Given the description of an element on the screen output the (x, y) to click on. 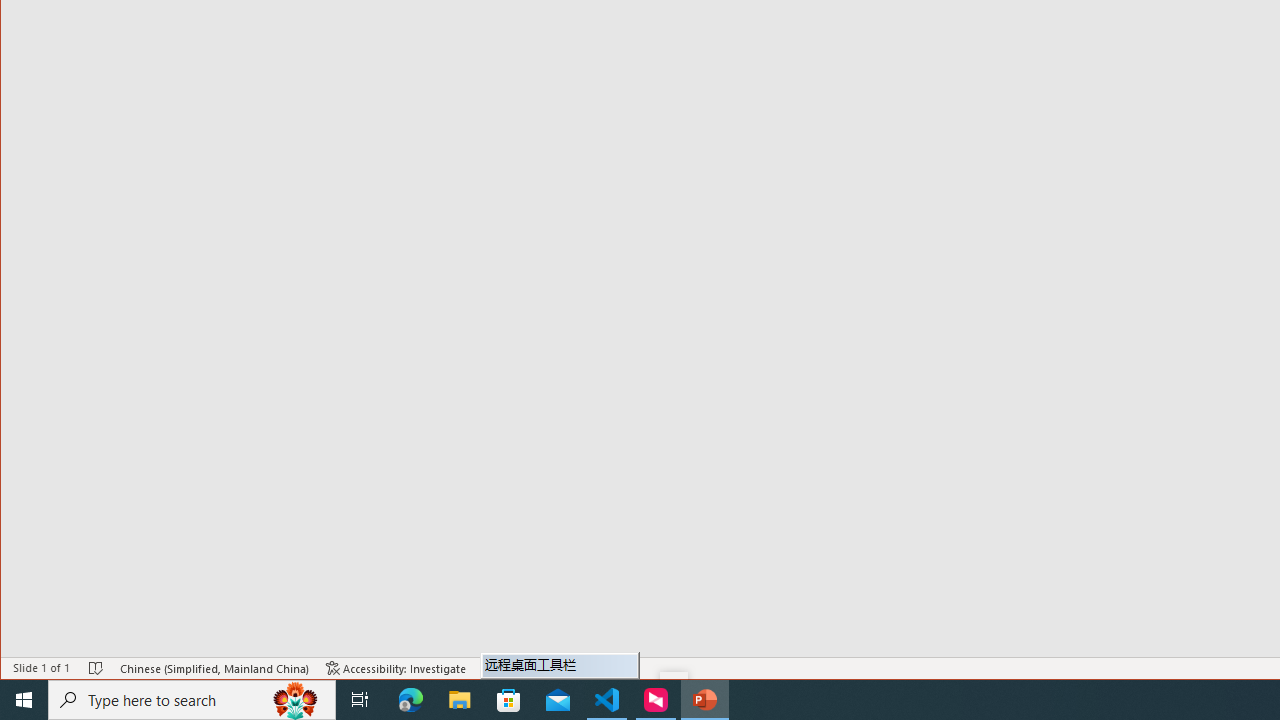
Microsoft Store (509, 699)
File Explorer (460, 699)
Microsoft Edge (411, 699)
PowerPoint - 1 running window (704, 699)
Task View (359, 699)
Accessibility Checker Accessibility: Investigate (395, 668)
Type here to search (191, 699)
Spell Check No Errors (96, 668)
Search highlights icon opens search home window (295, 699)
Start (24, 699)
Visual Studio Code - 1 running window (607, 699)
